Given the description of an element on the screen output the (x, y) to click on. 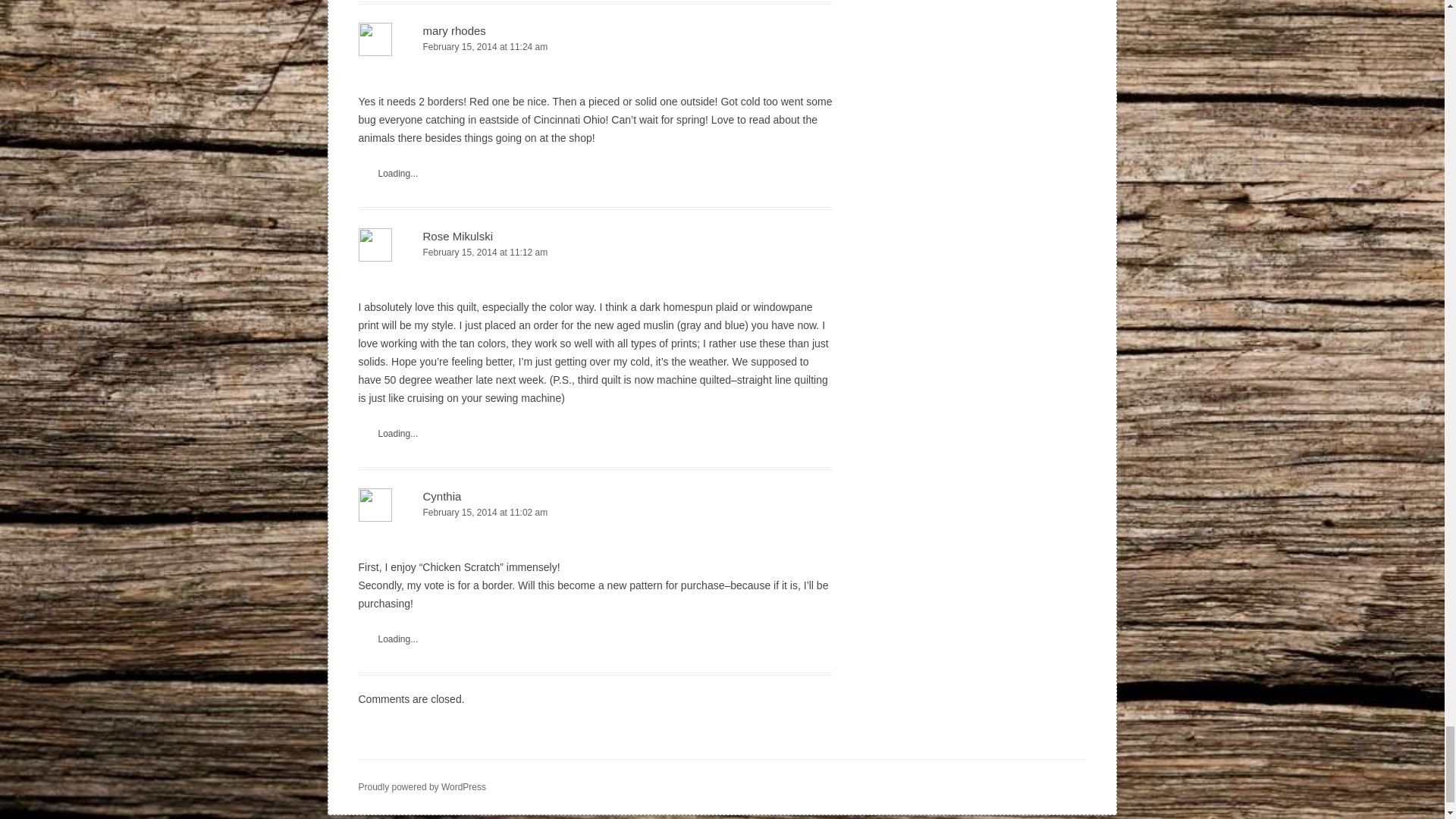
Semantic Personal Publishing Platform (422, 787)
